Given the description of an element on the screen output the (x, y) to click on. 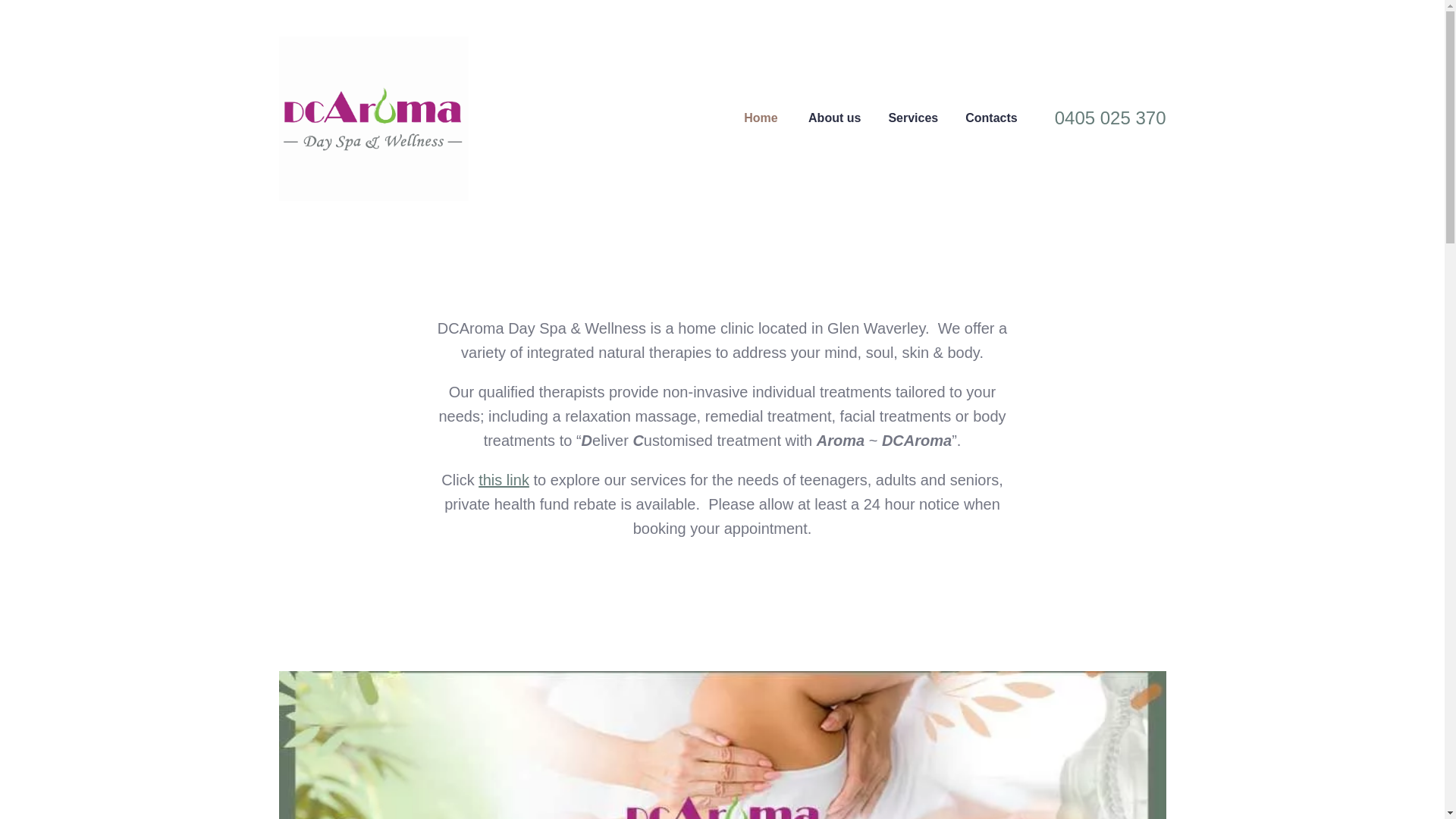
this link Element type: text (503, 479)
Home Element type: text (760, 117)
Services Element type: text (913, 117)
Contacts Element type: text (990, 117)
About us Element type: text (834, 117)
